Given the description of an element on the screen output the (x, y) to click on. 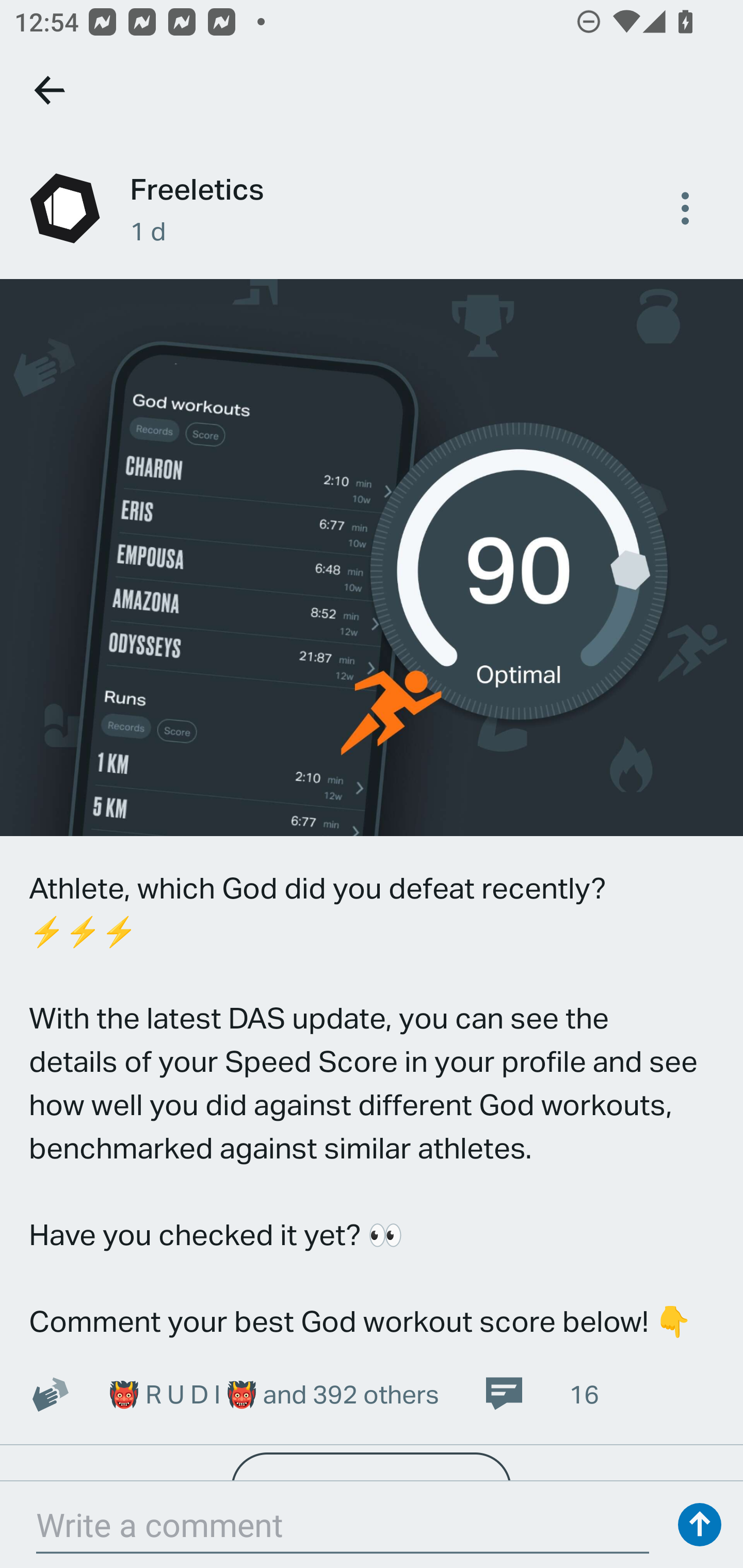
Go back (50, 90)
Freeletics  1 d (371, 208)
👹 R U D I 👹 and 392 others (273, 1393)
16 (540, 1393)
Write a comment (342, 1524)
Send (699, 1524)
